Given the description of an element on the screen output the (x, y) to click on. 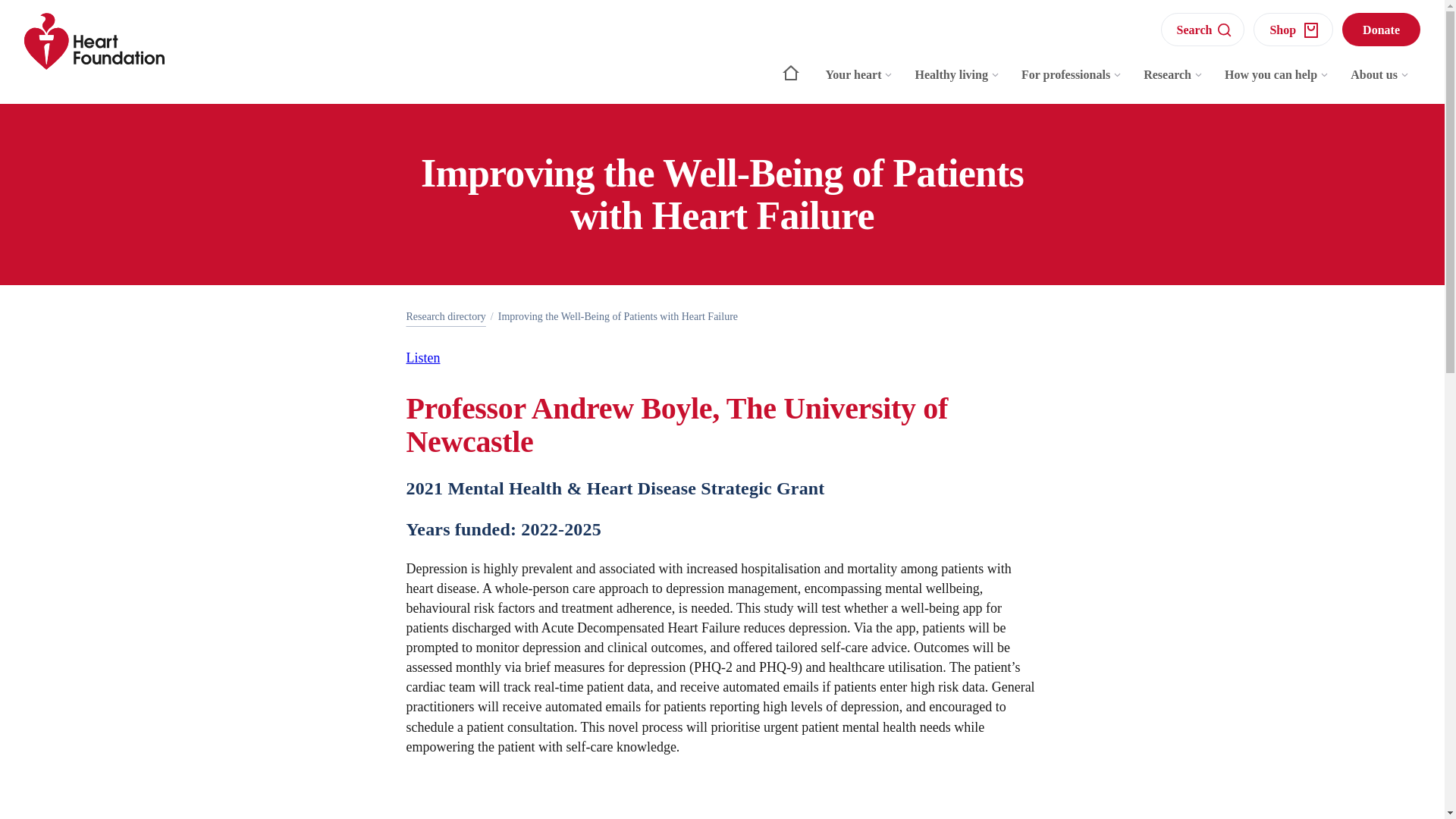
Listen to this page using ReadSpeaker webReader (423, 357)
YouTube video player (722, 812)
Research (1173, 81)
Your heart (859, 81)
About us (1380, 81)
Healthy living (957, 81)
For professionals (1071, 81)
Research directory (446, 316)
Listen (423, 357)
Shop (1293, 29)
